Given the description of an element on the screen output the (x, y) to click on. 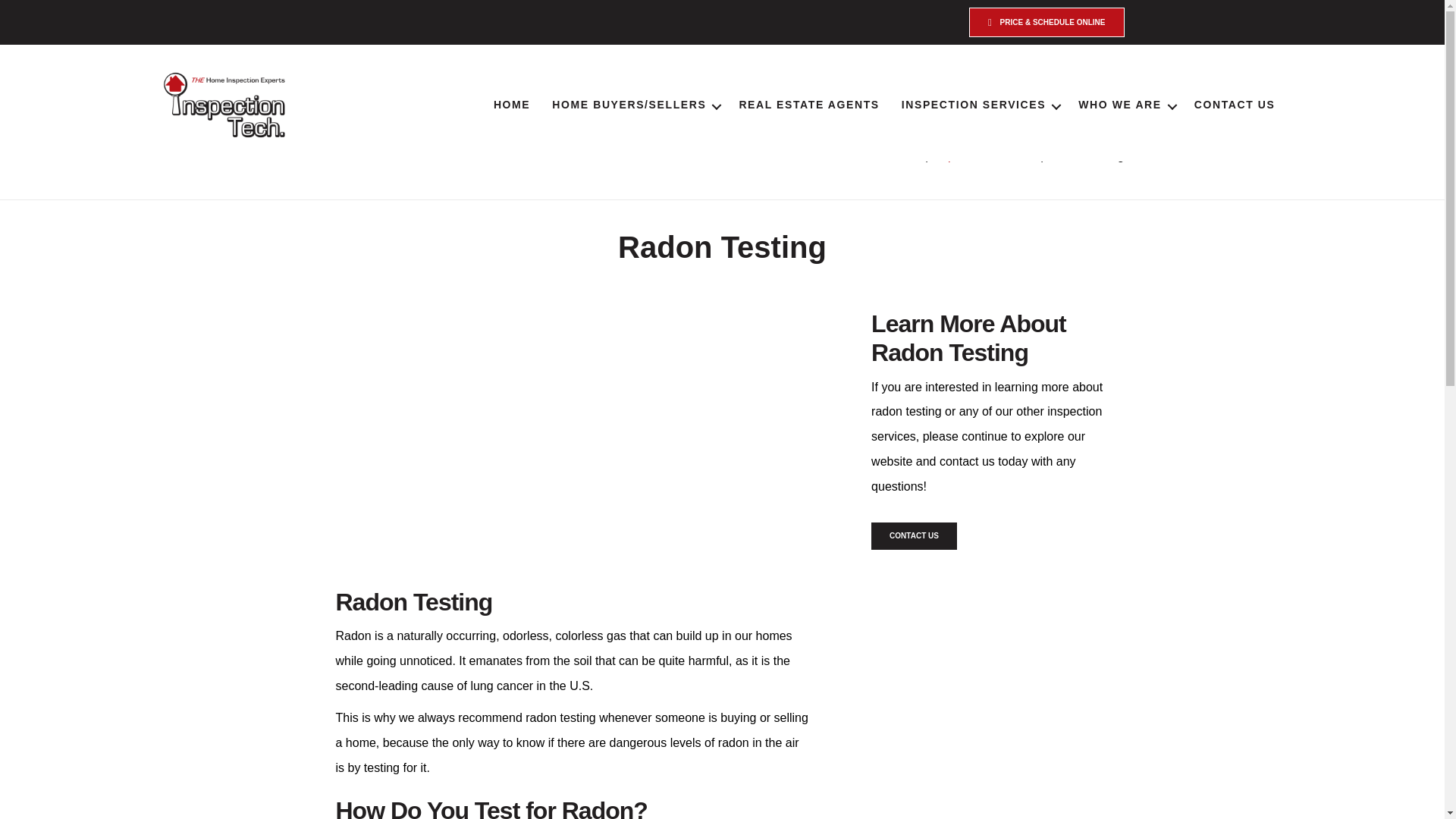
WHO WE ARE (1124, 106)
REAL ESTATE AGENTS (808, 106)
Home (905, 156)
INSPECTION SERVICES (979, 106)
Inspection Services (983, 156)
CONTACT US (913, 535)
logo (225, 104)
CONTACT US (1234, 106)
HOME (511, 106)
